Given the description of an element on the screen output the (x, y) to click on. 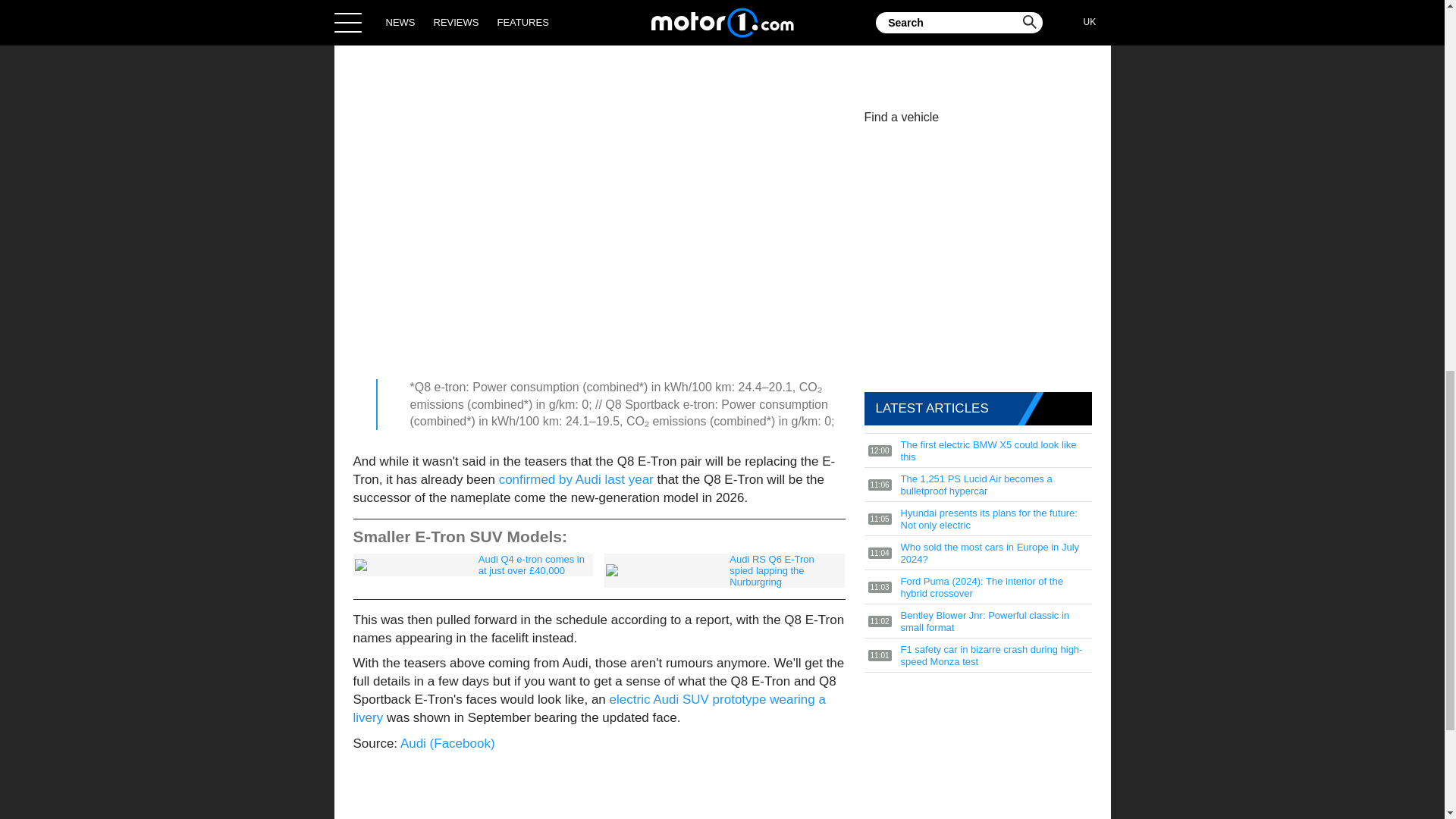
confirmed by Audi last year (576, 479)
electric Audi SUV prototype wearing a livery (589, 708)
Audi RS Q6 E-Tron spied lapping the Nurburgring (724, 570)
